Given the description of an element on the screen output the (x, y) to click on. 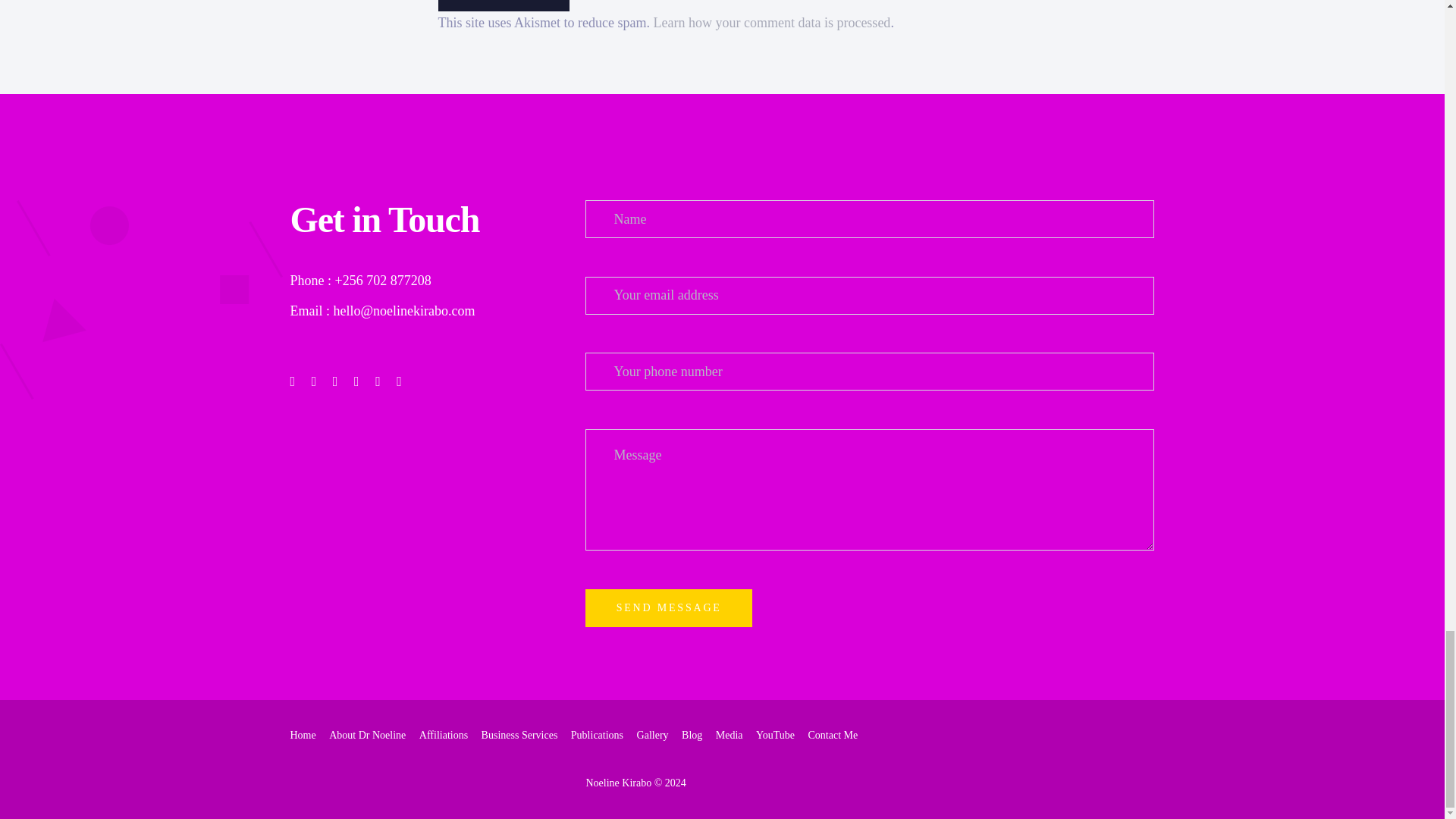
Home (302, 735)
Submit (504, 5)
Learn how your comment data is processed (770, 22)
SEND MESSAGE (668, 607)
SEND MESSAGE (668, 607)
Submit (504, 5)
